Given the description of an element on the screen output the (x, y) to click on. 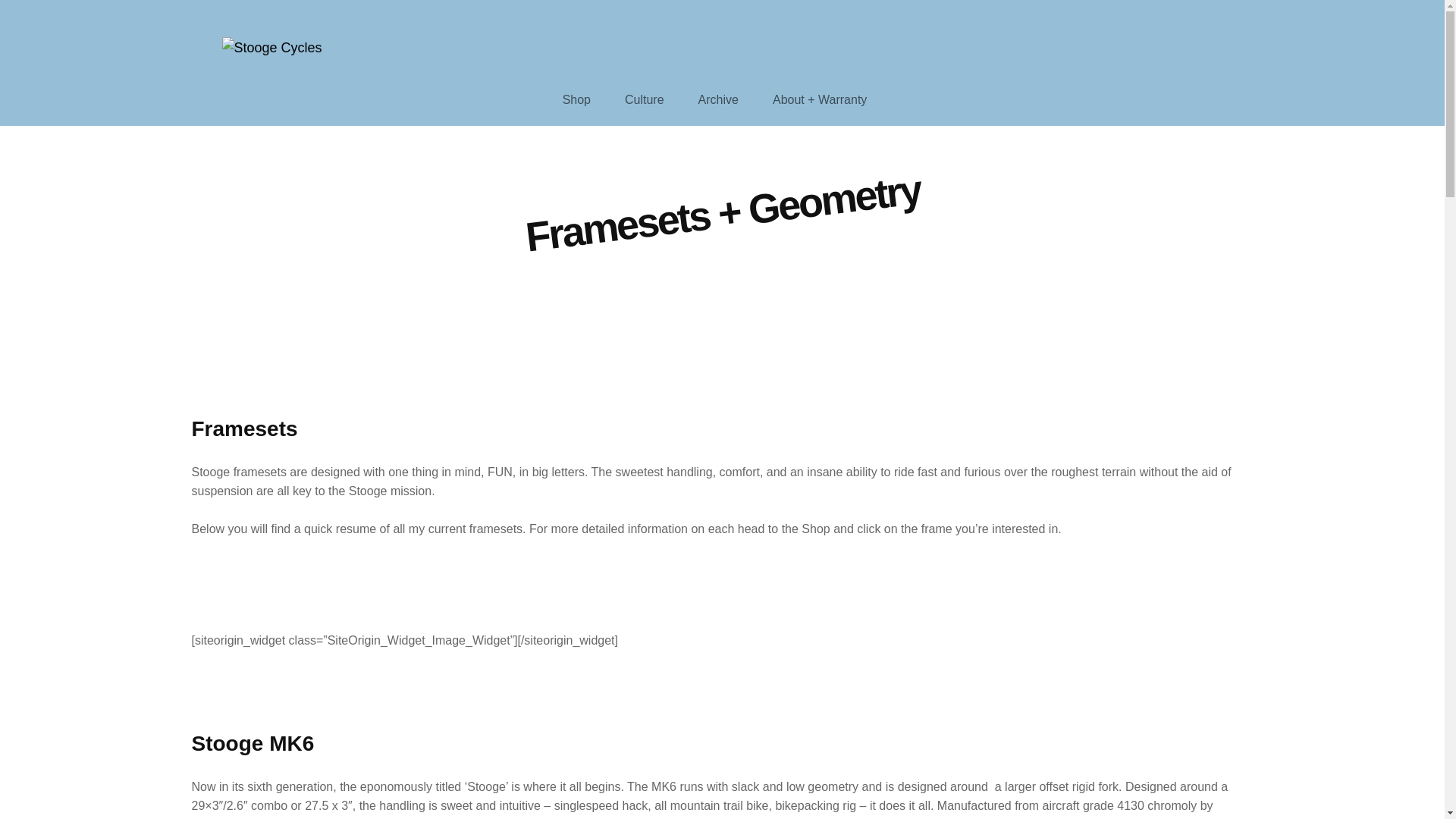
Shop (576, 100)
Archive (718, 100)
Culture (644, 100)
View your shopping cart (1246, 51)
STOOGE CYCLES (360, 51)
